Given the description of an element on the screen output the (x, y) to click on. 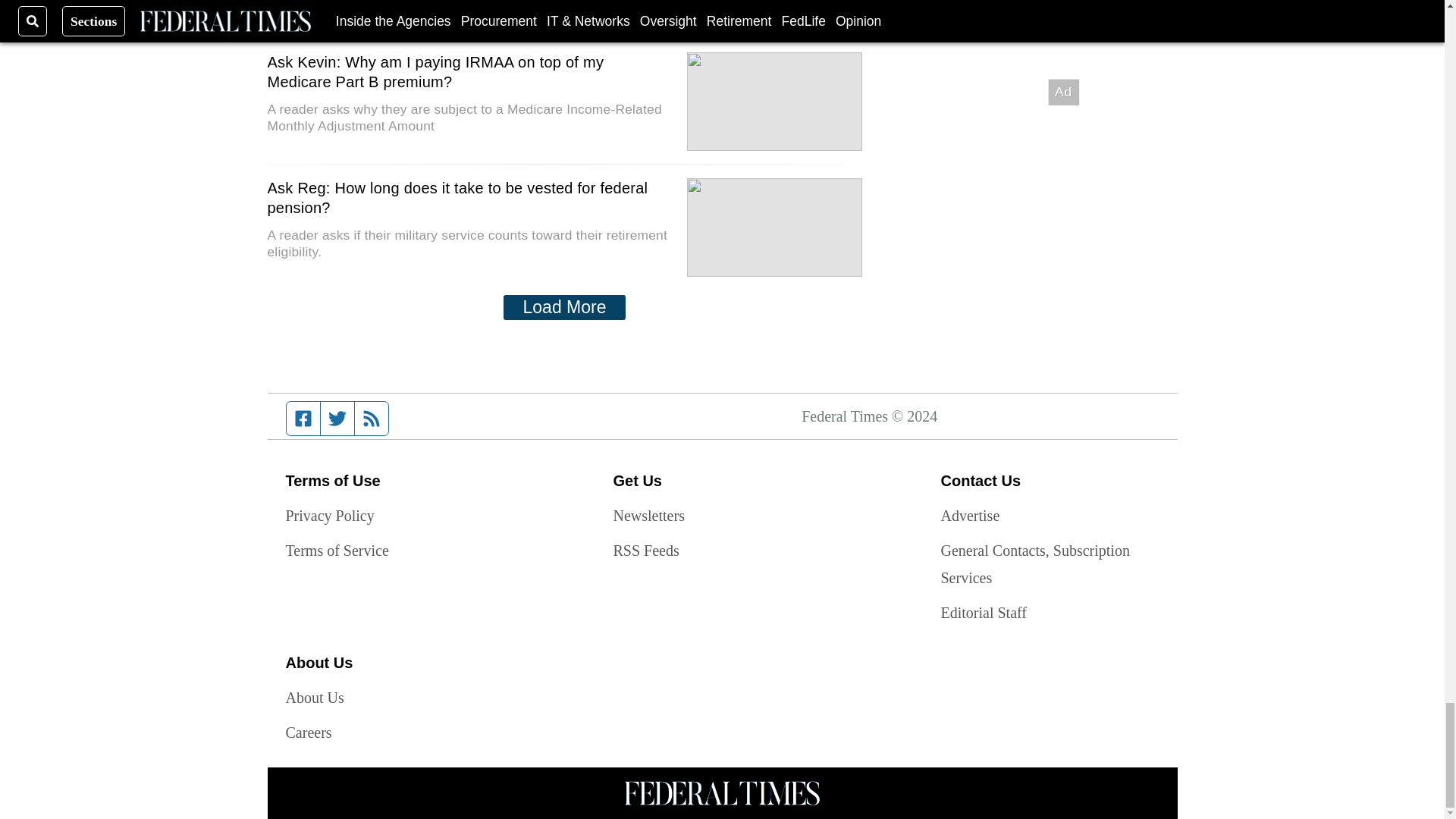
Facebook page (303, 418)
Twitter feed (336, 418)
RSS feed (371, 418)
